Given the description of an element on the screen output the (x, y) to click on. 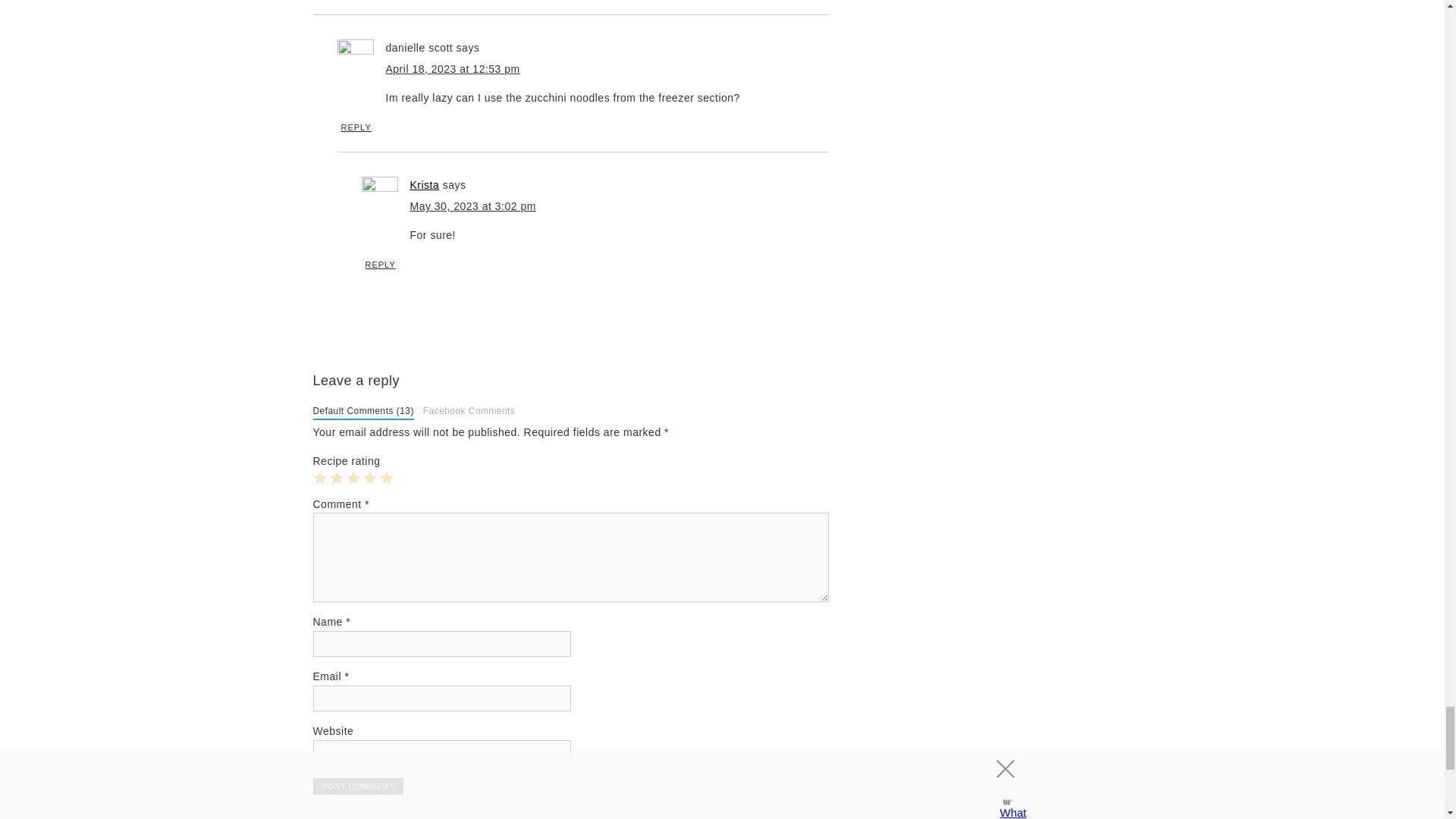
Post Comment (358, 786)
